Given the description of an element on the screen output the (x, y) to click on. 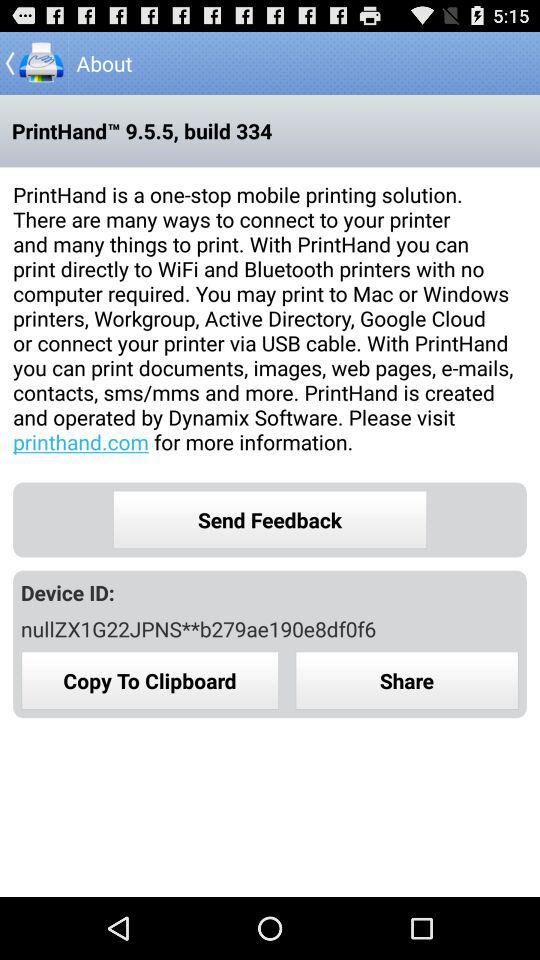
press the send feedback icon (269, 519)
